Given the description of an element on the screen output the (x, y) to click on. 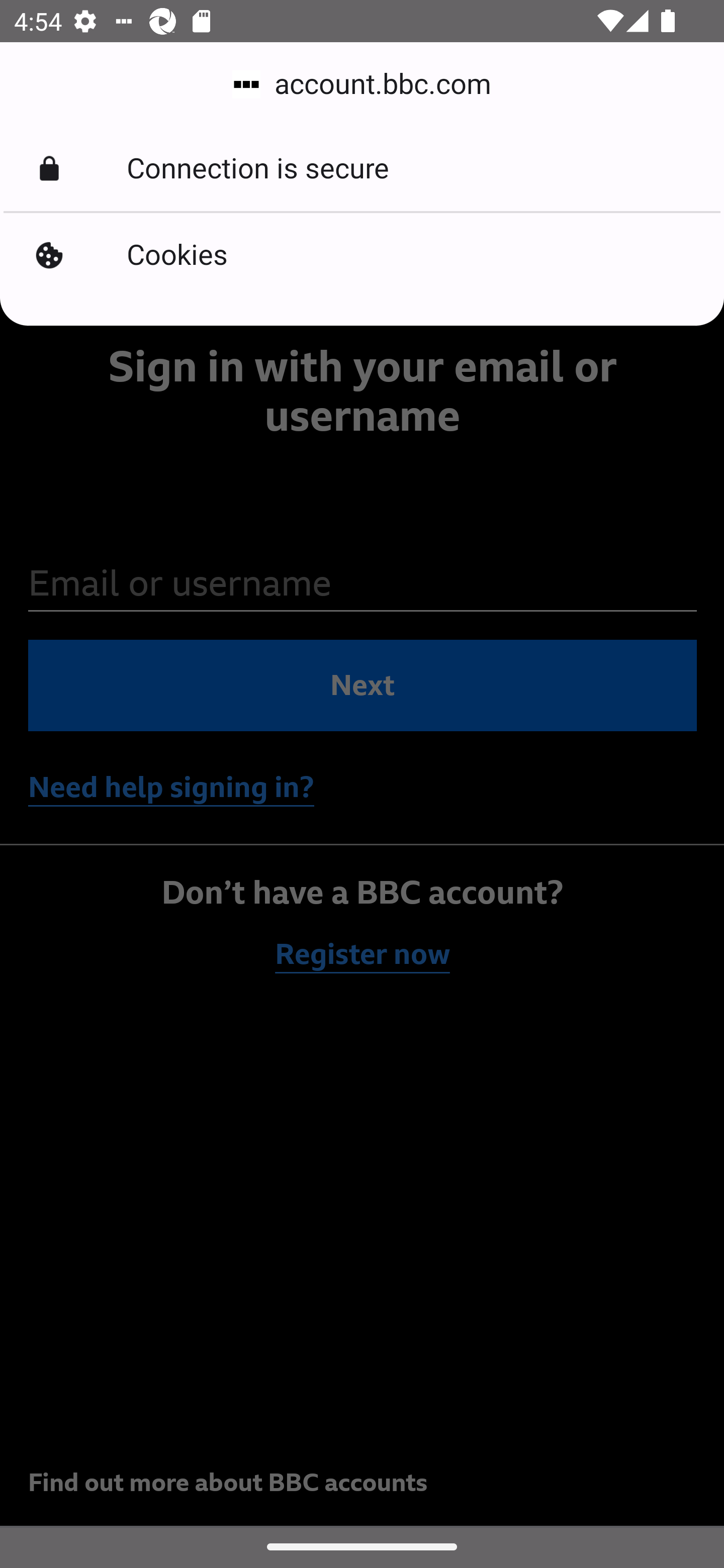
account.bbc.com (362, 84)
Connection is secure (362, 169)
Cookies (362, 255)
